Given the description of an element on the screen output the (x, y) to click on. 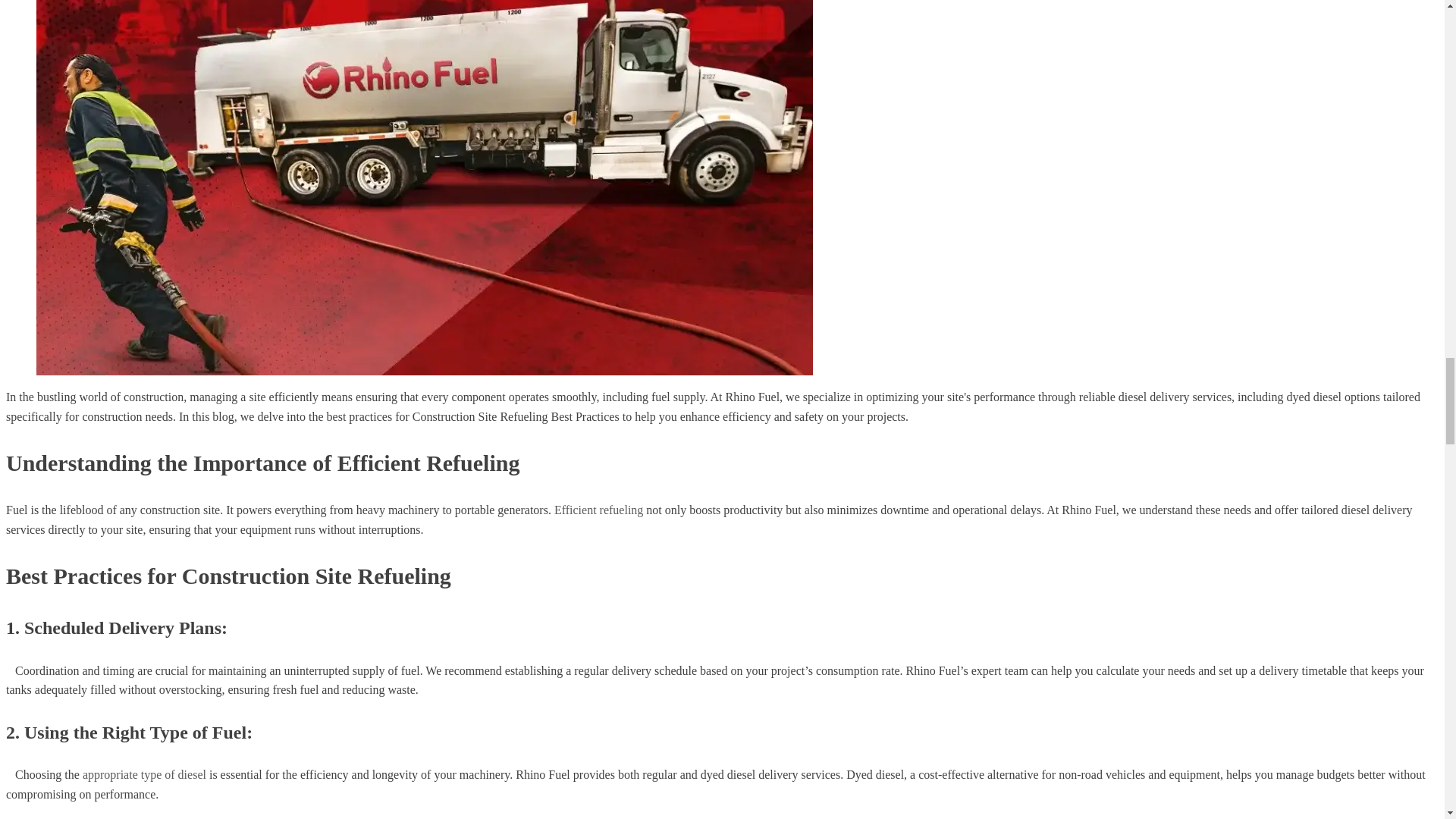
Efficient refueling (598, 509)
appropriate type of diesel (144, 774)
Efficient refueling (598, 509)
appropriate type of diesel (144, 774)
